Given the description of an element on the screen output the (x, y) to click on. 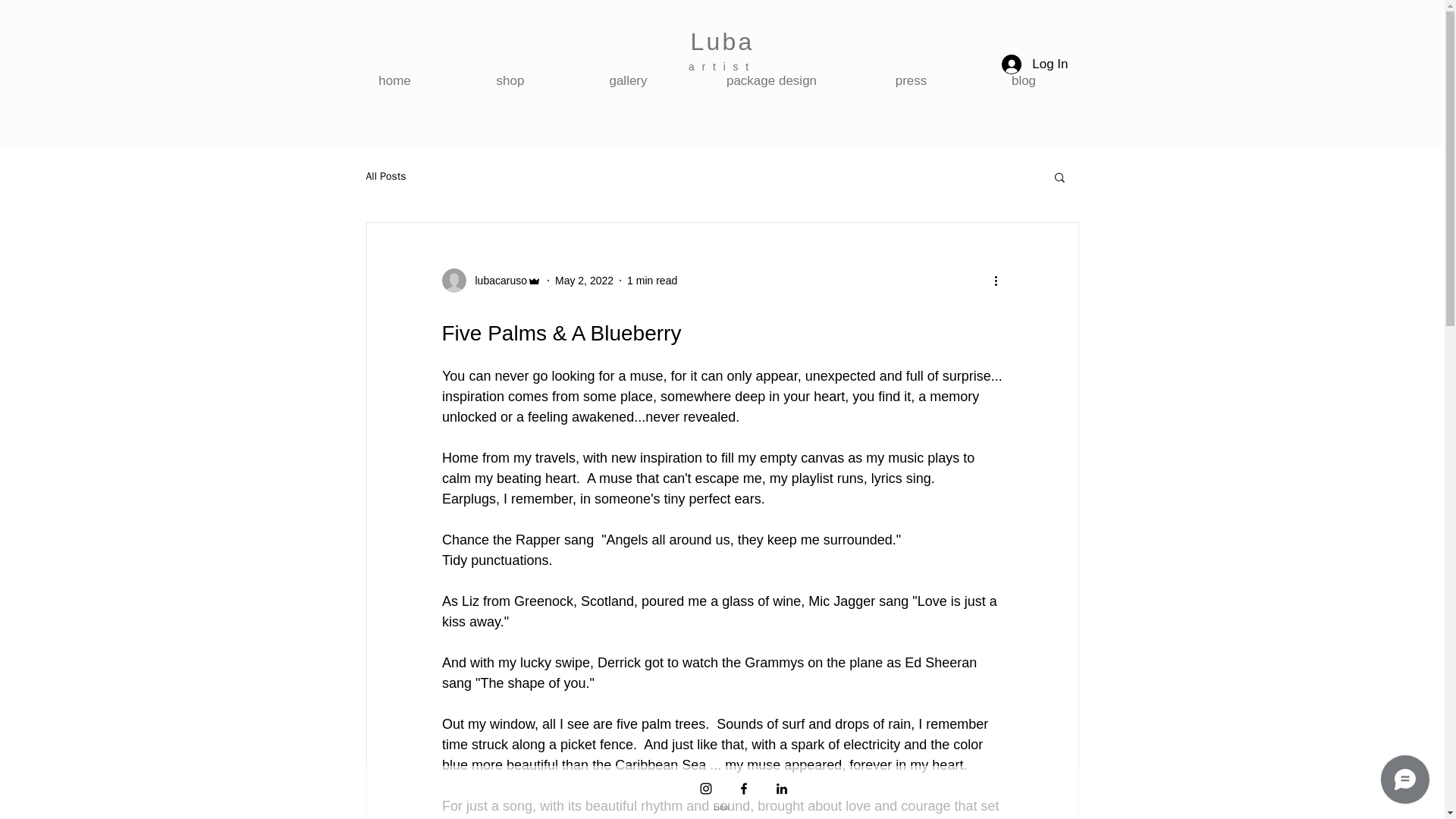
gallery (628, 80)
artist (721, 66)
shop (509, 80)
May 2, 2022 (583, 280)
All Posts (385, 176)
blog (1023, 80)
Luba (722, 41)
Log In (1034, 63)
press (911, 80)
lubacaruso (496, 280)
